Given the description of an element on the screen output the (x, y) to click on. 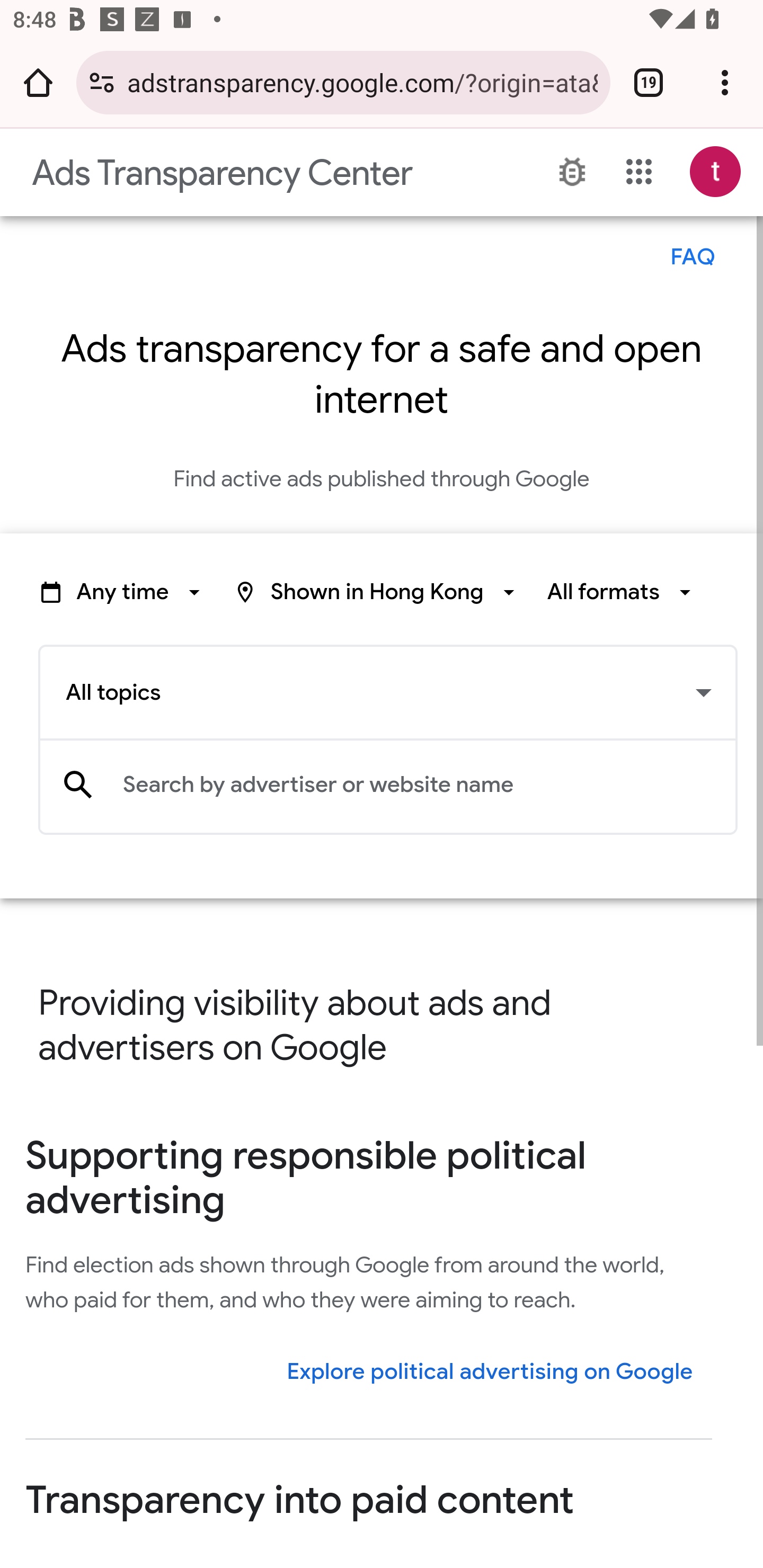
Open the home page (38, 82)
Connection is secure (101, 82)
Switch or close tabs (648, 82)
Customize and control Google Chrome (724, 82)
adstransparency.google.com/?origin=ata&region=HK (362, 82)
Send Bug Report (572, 171)
Google apps (638, 171)
FAQ (691, 256)
Date range filter button (123, 591)
Region selection filter button (376, 591)
Ad format filter button: selected All formats (622, 591)
All topics (387, 692)
Explore political advertising on Google (489, 1371)
